Given the description of an element on the screen output the (x, y) to click on. 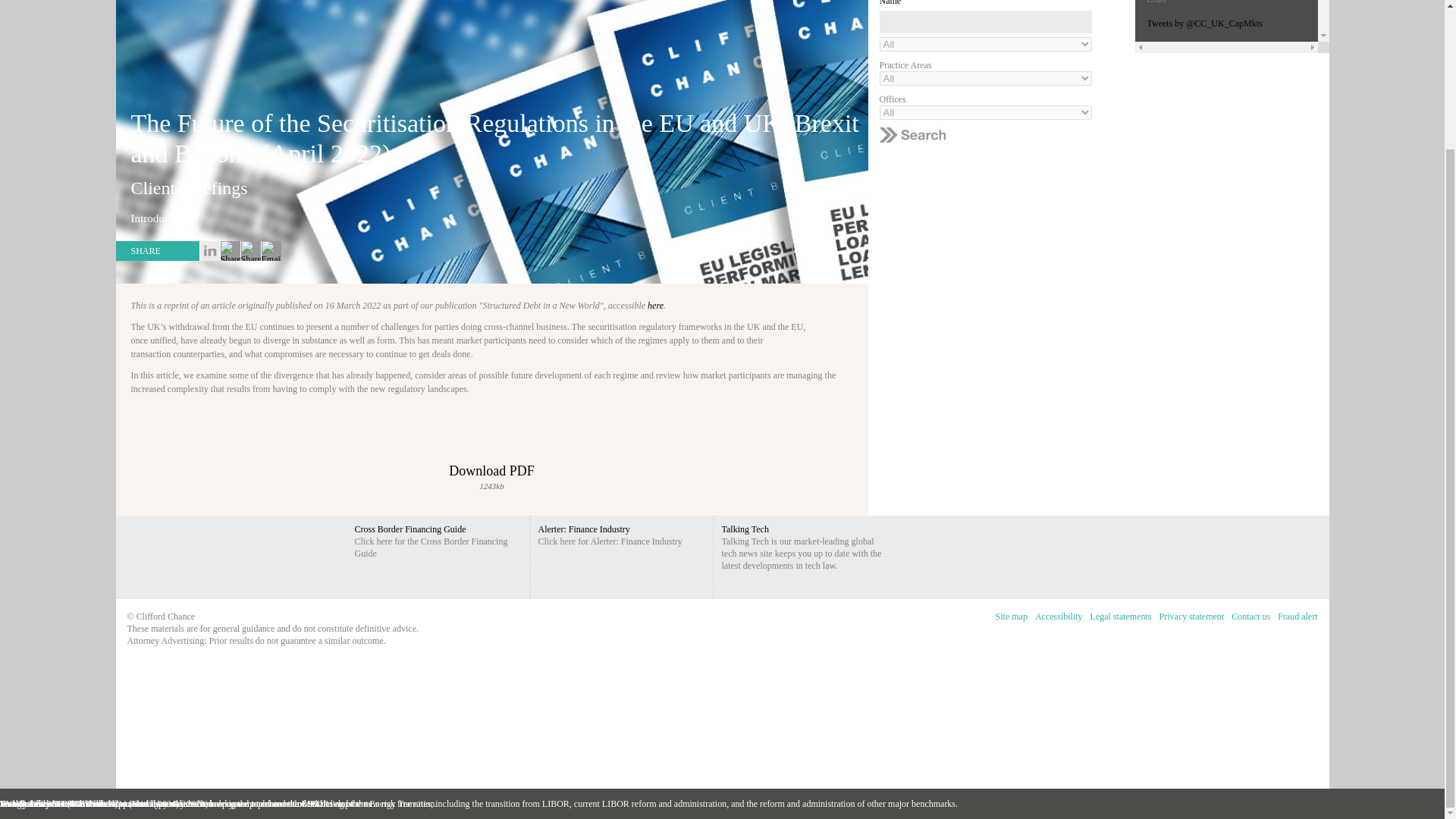
Contact us (1250, 616)
Accessibility (1058, 616)
Fraud alert (1297, 616)
Privacy statement (1192, 616)
Site map (1010, 616)
Download (491, 452)
